Given the description of an element on the screen output the (x, y) to click on. 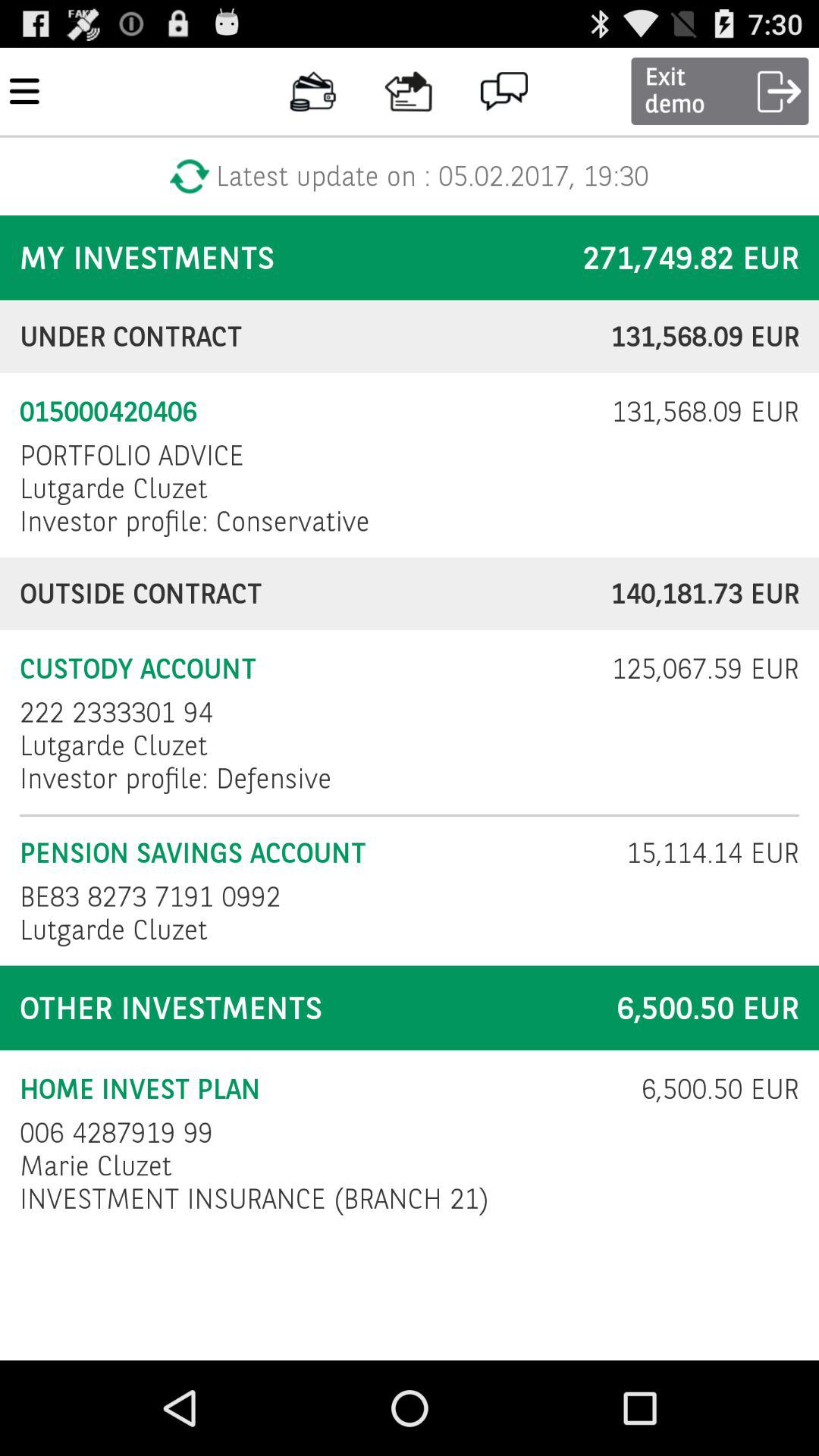
click the 15 114 14 item (702, 852)
